Given the description of an element on the screen output the (x, y) to click on. 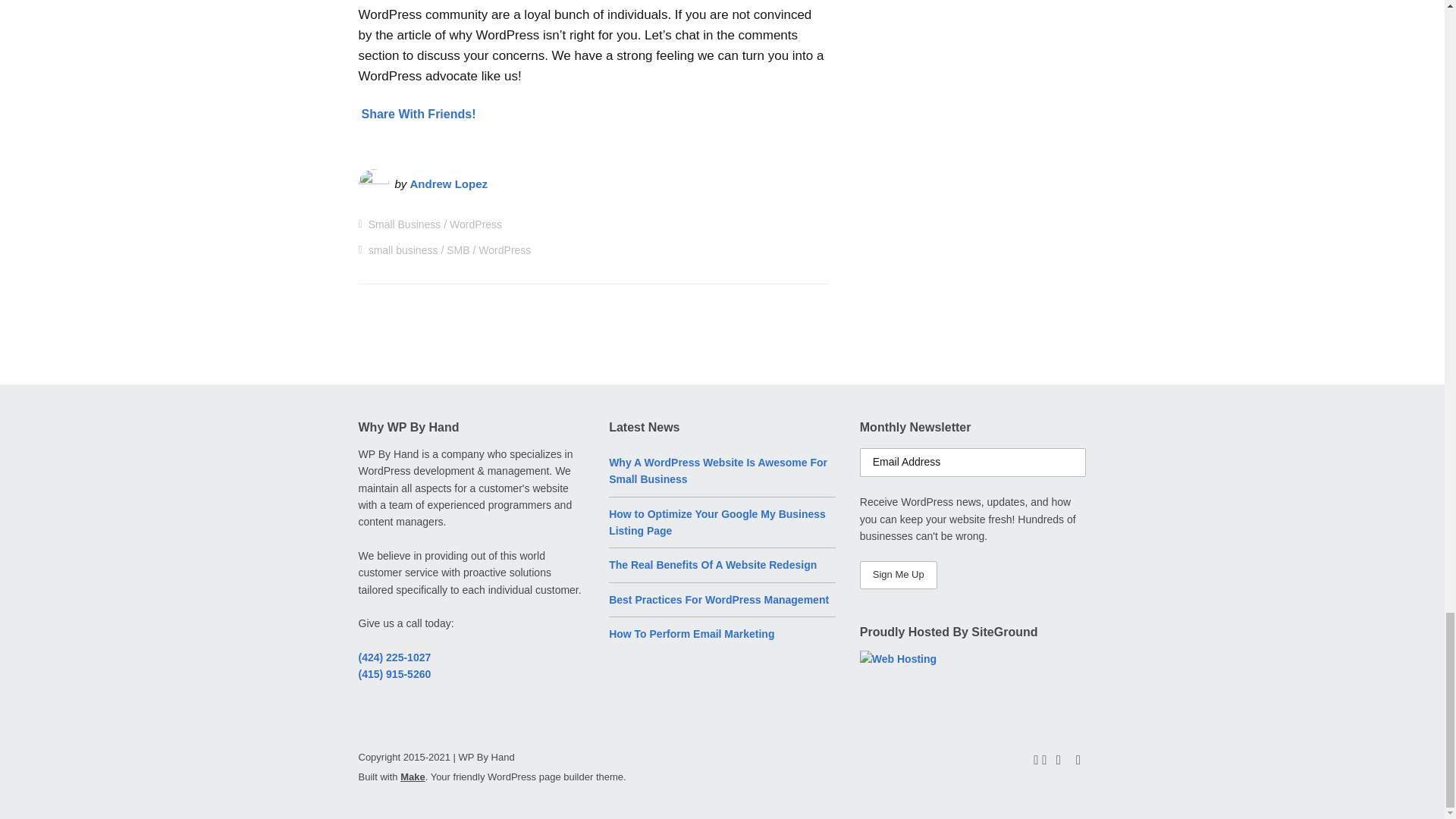
WordPress (505, 250)
SMB (457, 250)
small business (403, 250)
Sign Me Up (898, 574)
Share With Friends! (418, 114)
Andrew Lopez (448, 183)
Small Business (404, 224)
WordPress (475, 224)
